Given the description of an element on the screen output the (x, y) to click on. 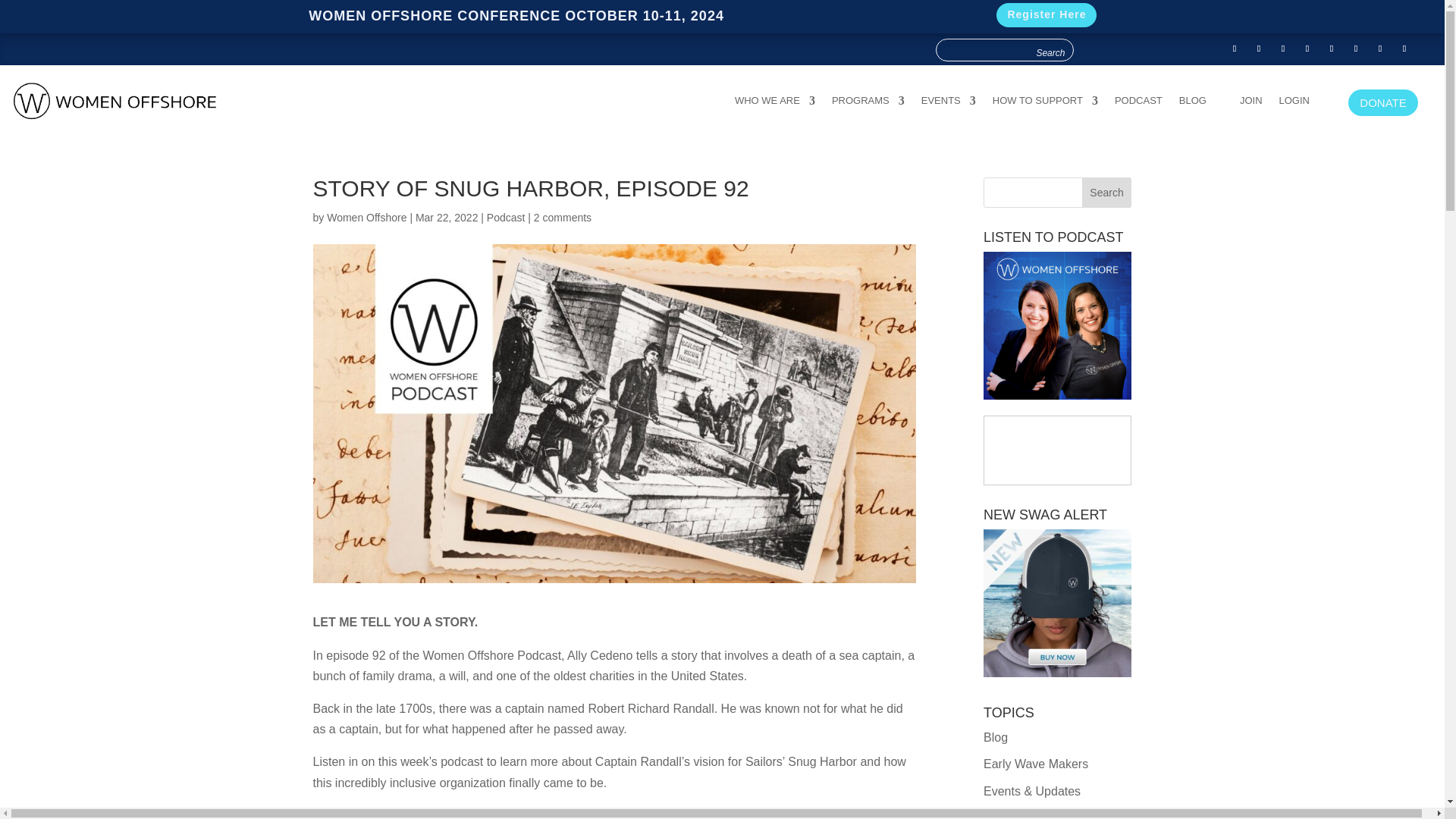
Follow on Youtube (1283, 48)
Posts by Women Offshore (366, 217)
Register Here (1045, 15)
Follow on Facebook (1234, 48)
Follow on Podcast (1403, 48)
PODCAST (1138, 103)
Follow on Pinterest (1380, 48)
Search (1050, 52)
woslogo (114, 100)
Follow on iTunes (1331, 48)
PROGRAMS (867, 103)
Search (1050, 52)
HOW TO SUPPORT (1044, 103)
Follow on LinkedIn (1355, 48)
Search (1050, 52)
